Given the description of an element on the screen output the (x, y) to click on. 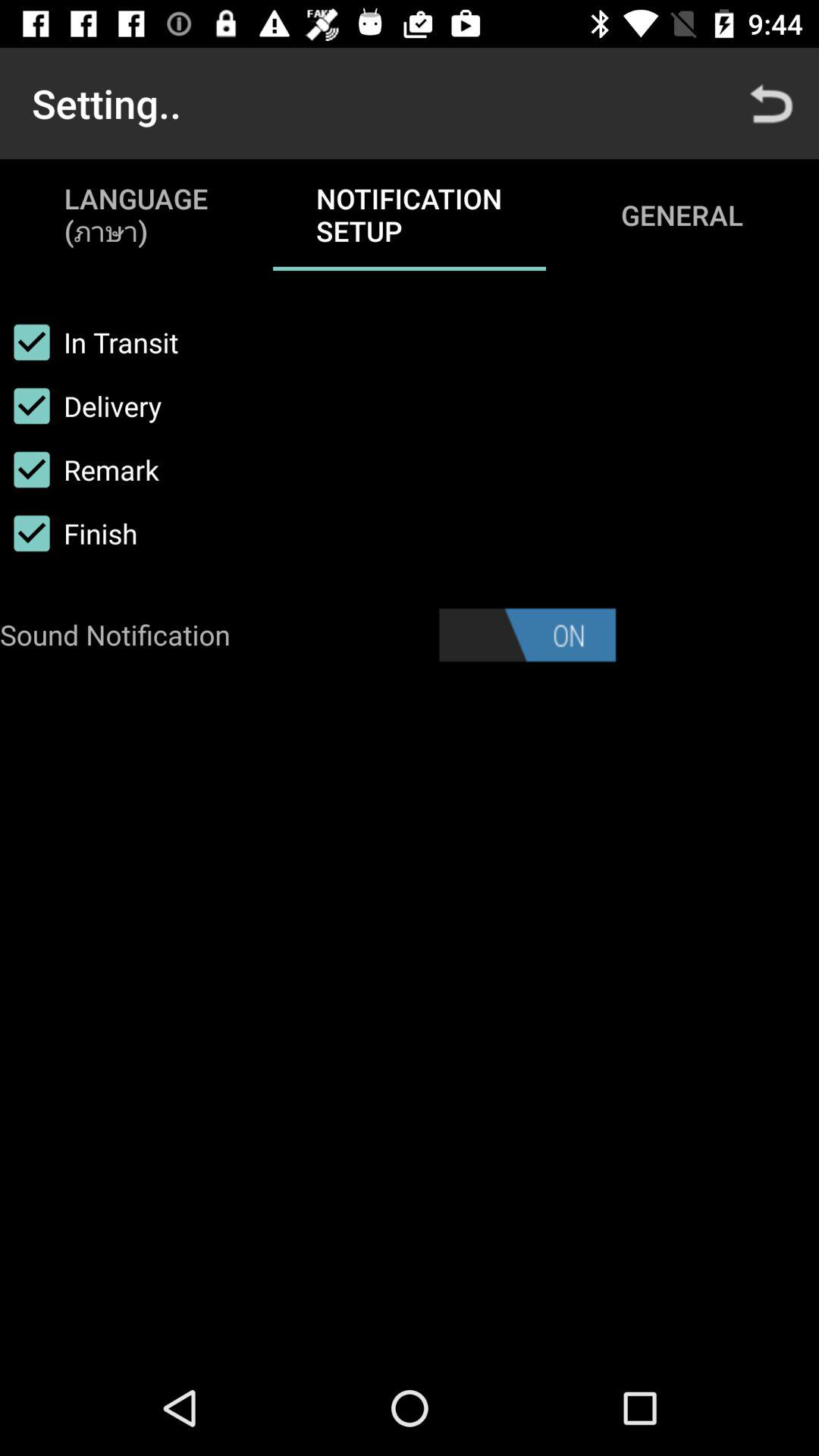
jump to remark item (79, 469)
